Given the description of an element on the screen output the (x, y) to click on. 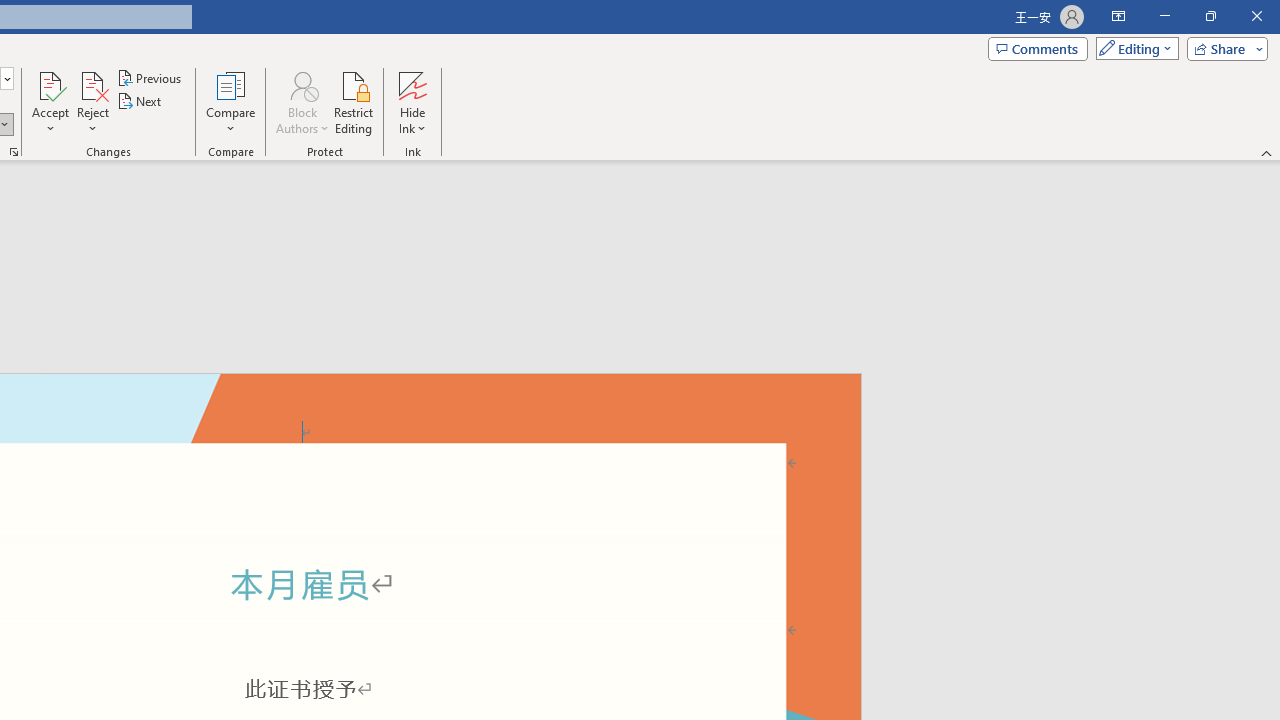
Block Authors (302, 84)
Compare (230, 102)
Restrict Editing (353, 102)
Reject (92, 102)
Change Tracking Options... (13, 151)
Open (6, 78)
Hide Ink (412, 84)
Hide Ink (412, 102)
Next (140, 101)
